Given the description of an element on the screen output the (x, y) to click on. 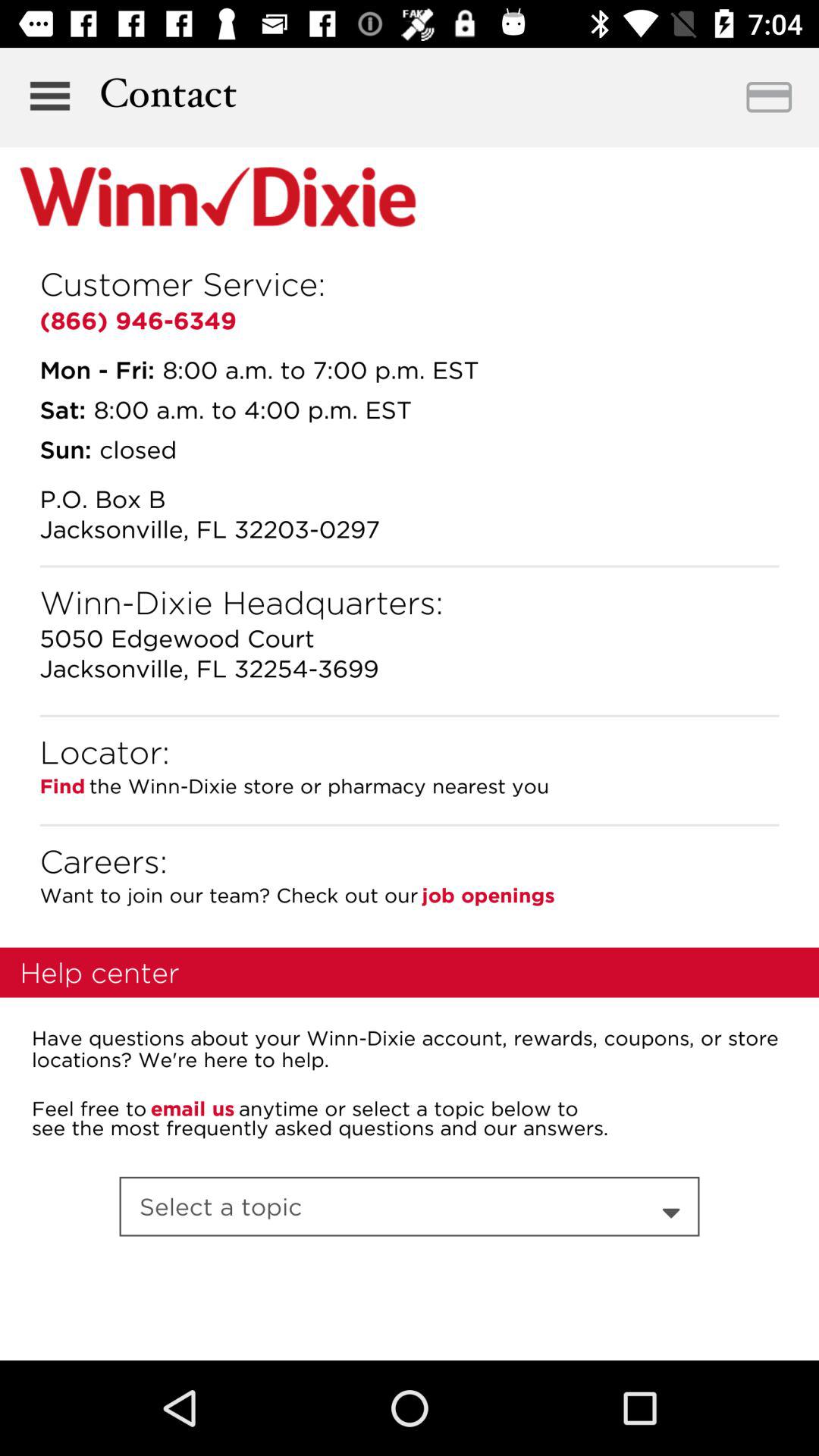
click the careers: (103, 861)
